Given the description of an element on the screen output the (x, y) to click on. 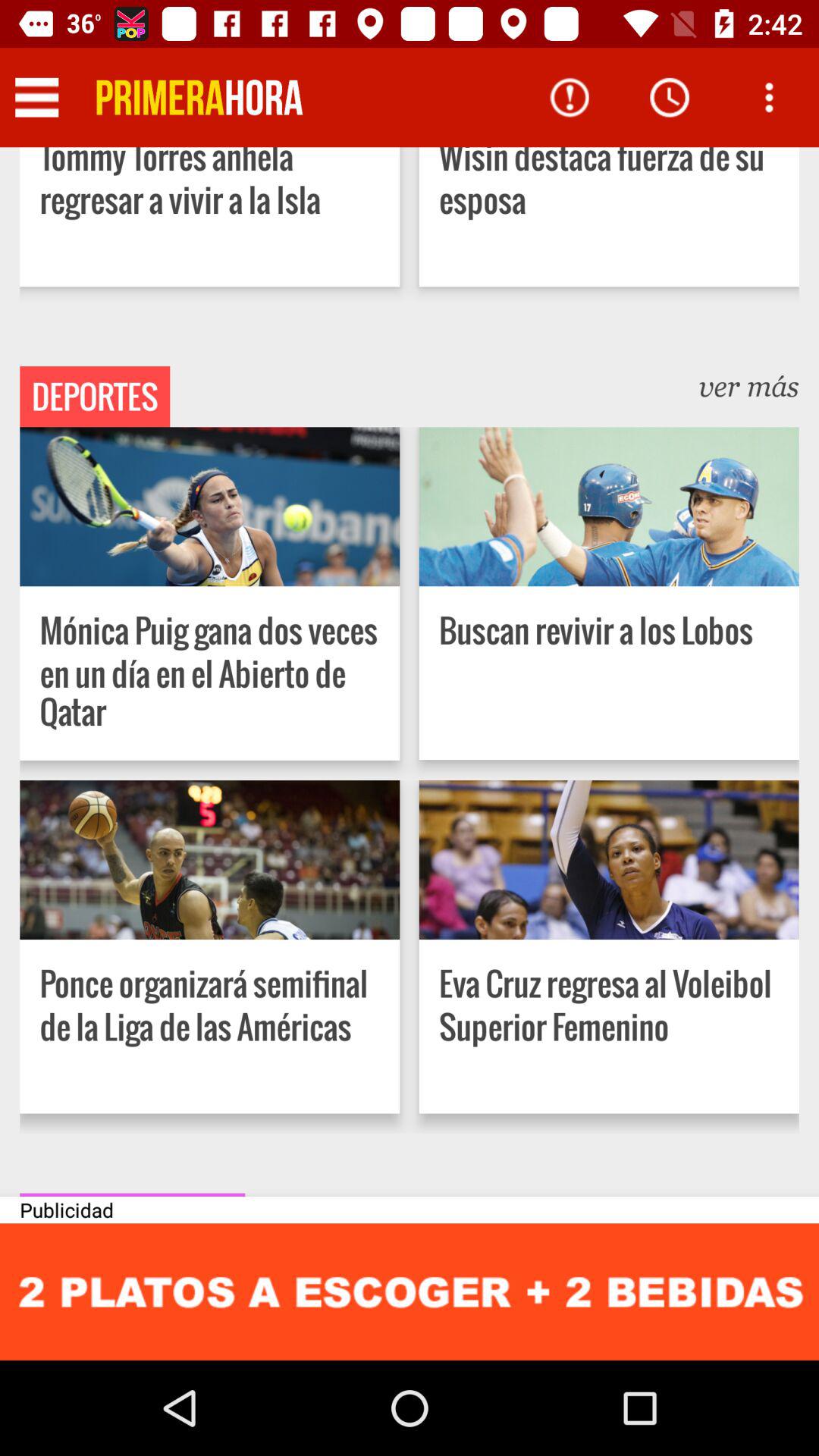
press icon to the left of the wisin destaca fuerza (199, 97)
